Given the description of an element on the screen output the (x, y) to click on. 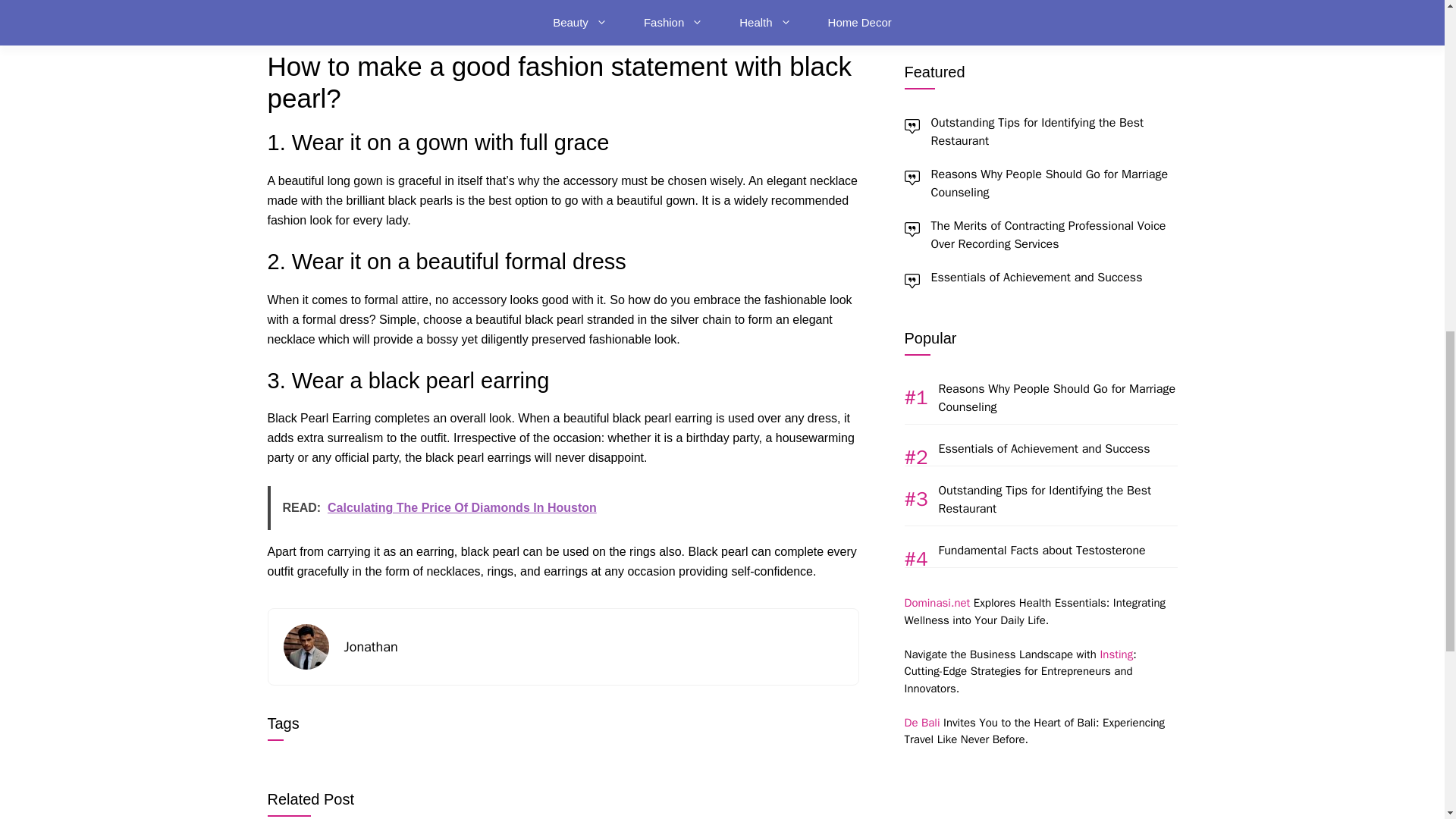
Jonathan (370, 646)
READ:  Calculating The Price Of Diamonds In Houston (562, 507)
